Given the description of an element on the screen output the (x, y) to click on. 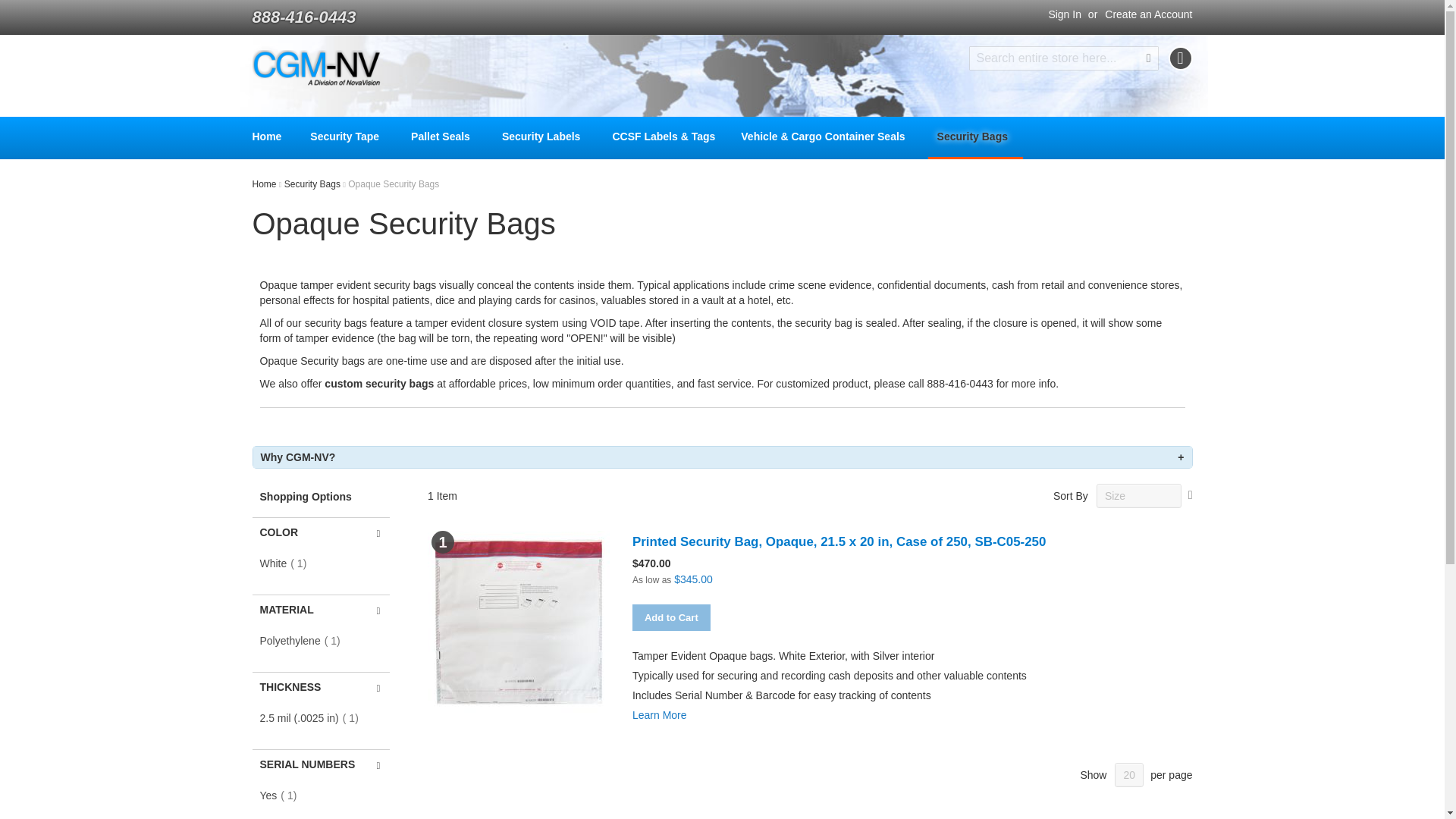
Add to Cart (670, 617)
Security Tape (347, 137)
Add to Cart (670, 617)
Security Labels (544, 137)
Home (266, 137)
Pallet Seals (442, 137)
Go to Home Page (264, 184)
Security Bags (312, 184)
CGM-NV (315, 67)
Create an Account (1148, 14)
Home (264, 184)
Security Bags (975, 137)
My Cart (1179, 57)
